Given the description of an element on the screen output the (x, y) to click on. 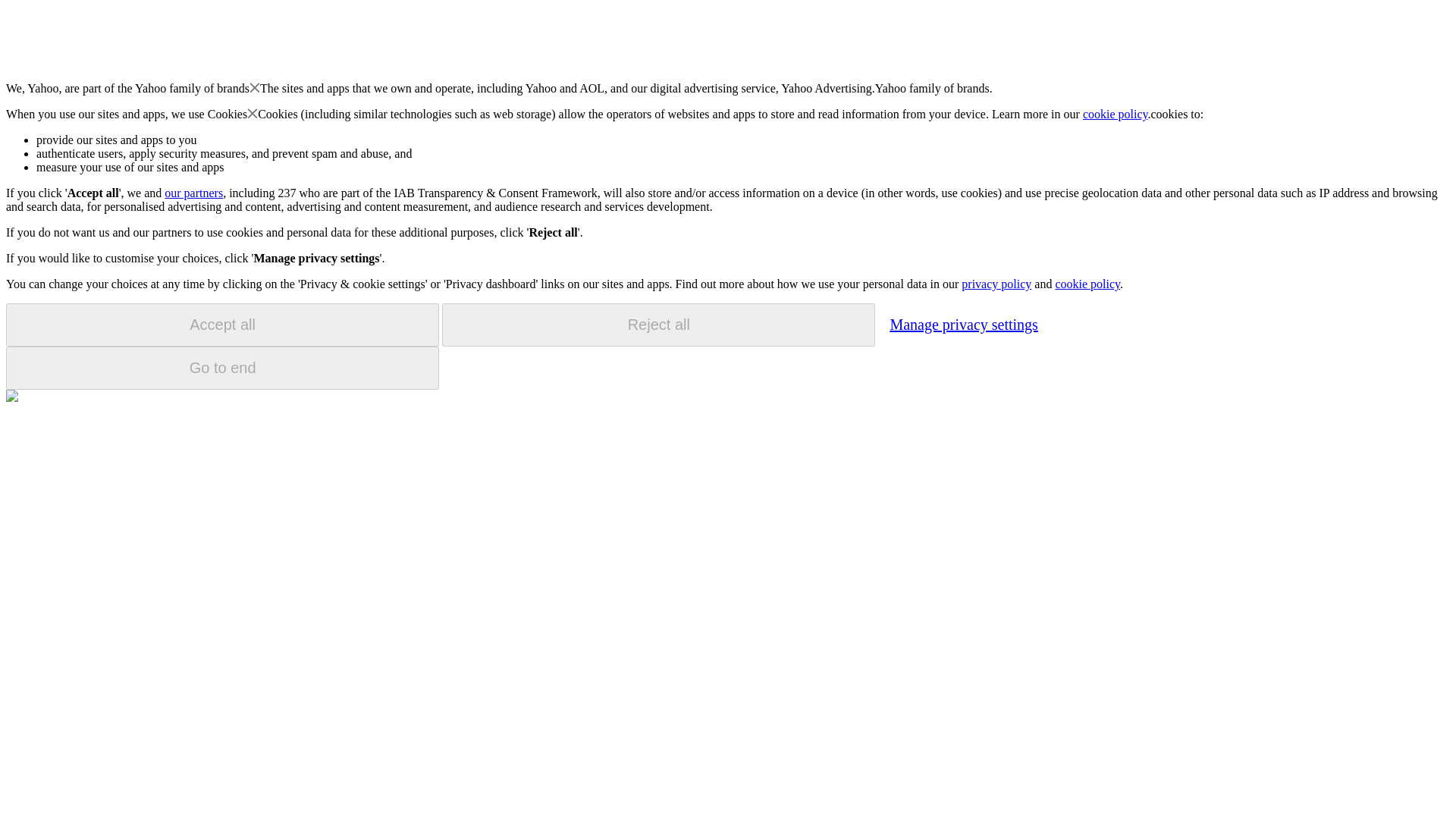
Accept all (222, 324)
privacy policy (995, 283)
Reject all (658, 324)
Manage privacy settings (963, 323)
our partners (193, 192)
Go to end (222, 367)
cookie policy (1115, 113)
cookie policy (1086, 283)
